Given the description of an element on the screen output the (x, y) to click on. 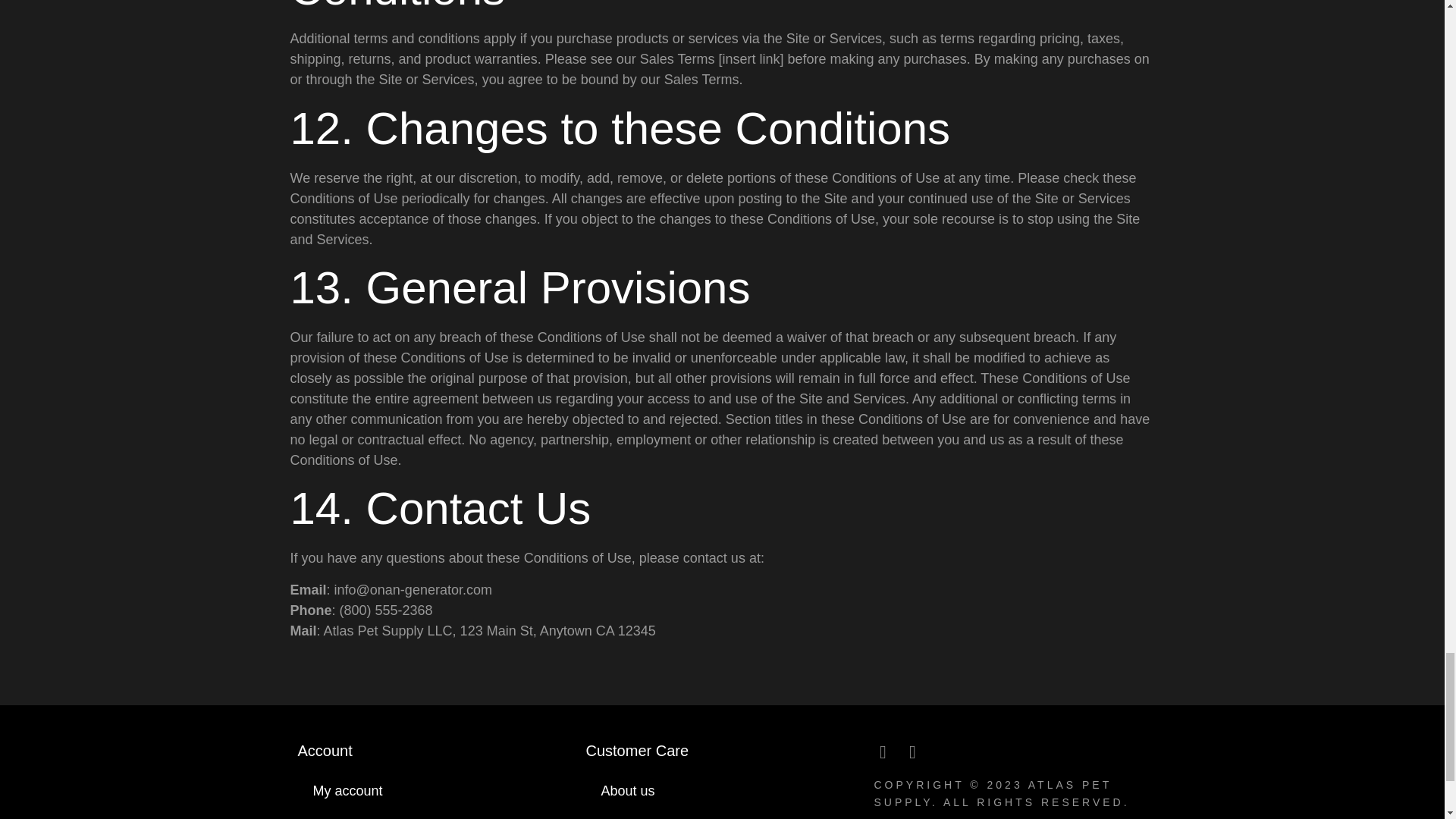
About us (722, 790)
Checkout (433, 813)
Privacy Policy (722, 813)
My account (433, 790)
